Given the description of an element on the screen output the (x, y) to click on. 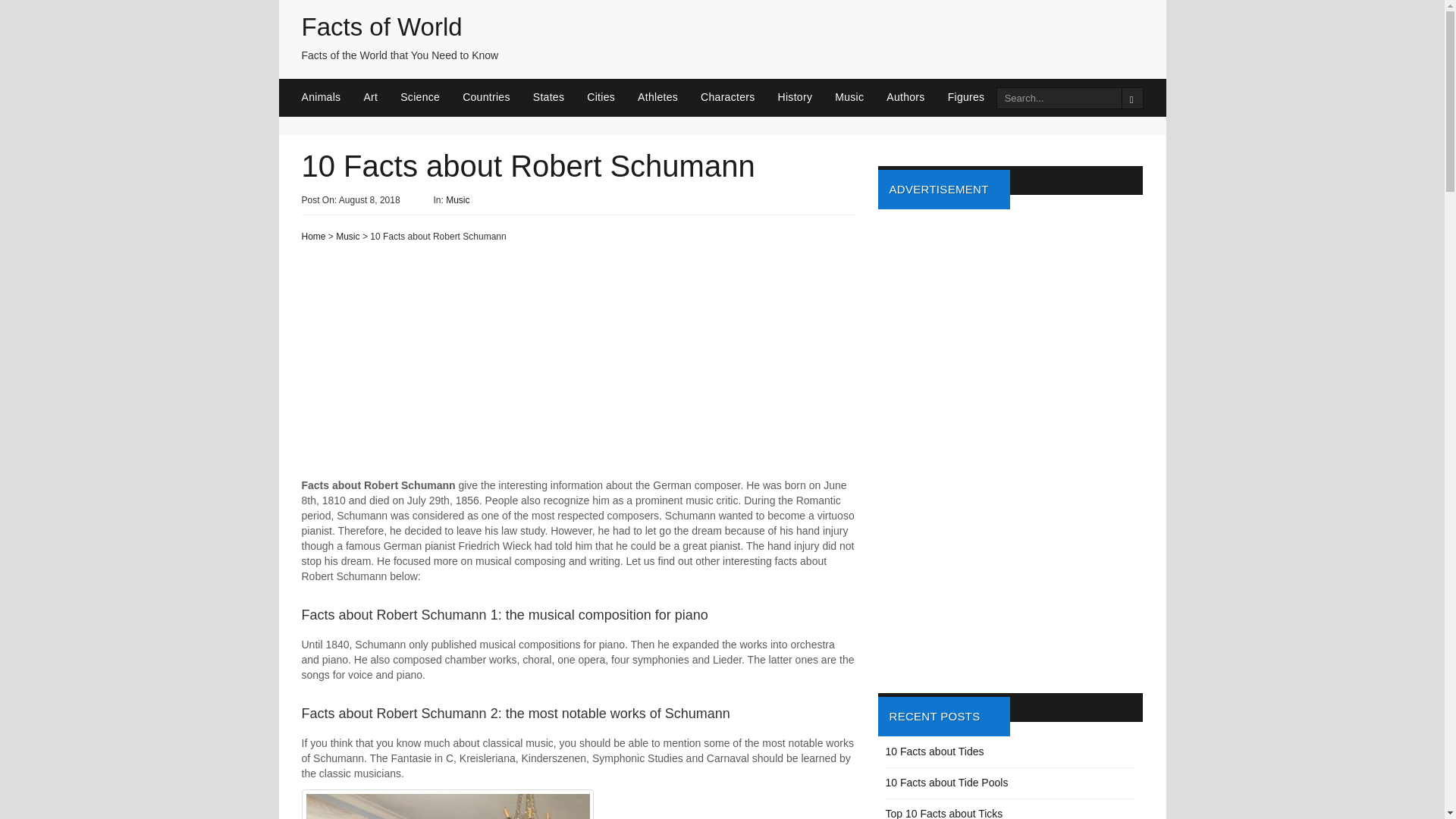
Athletes (668, 96)
Science (431, 96)
Characters (738, 96)
Art (381, 96)
Cities (611, 96)
States (560, 96)
History (806, 96)
Advertisement (578, 364)
Environment (1049, 96)
Cities (611, 96)
History (806, 96)
Countries (497, 96)
Animals (332, 96)
Music (860, 96)
Music (347, 235)
